Given the description of an element on the screen output the (x, y) to click on. 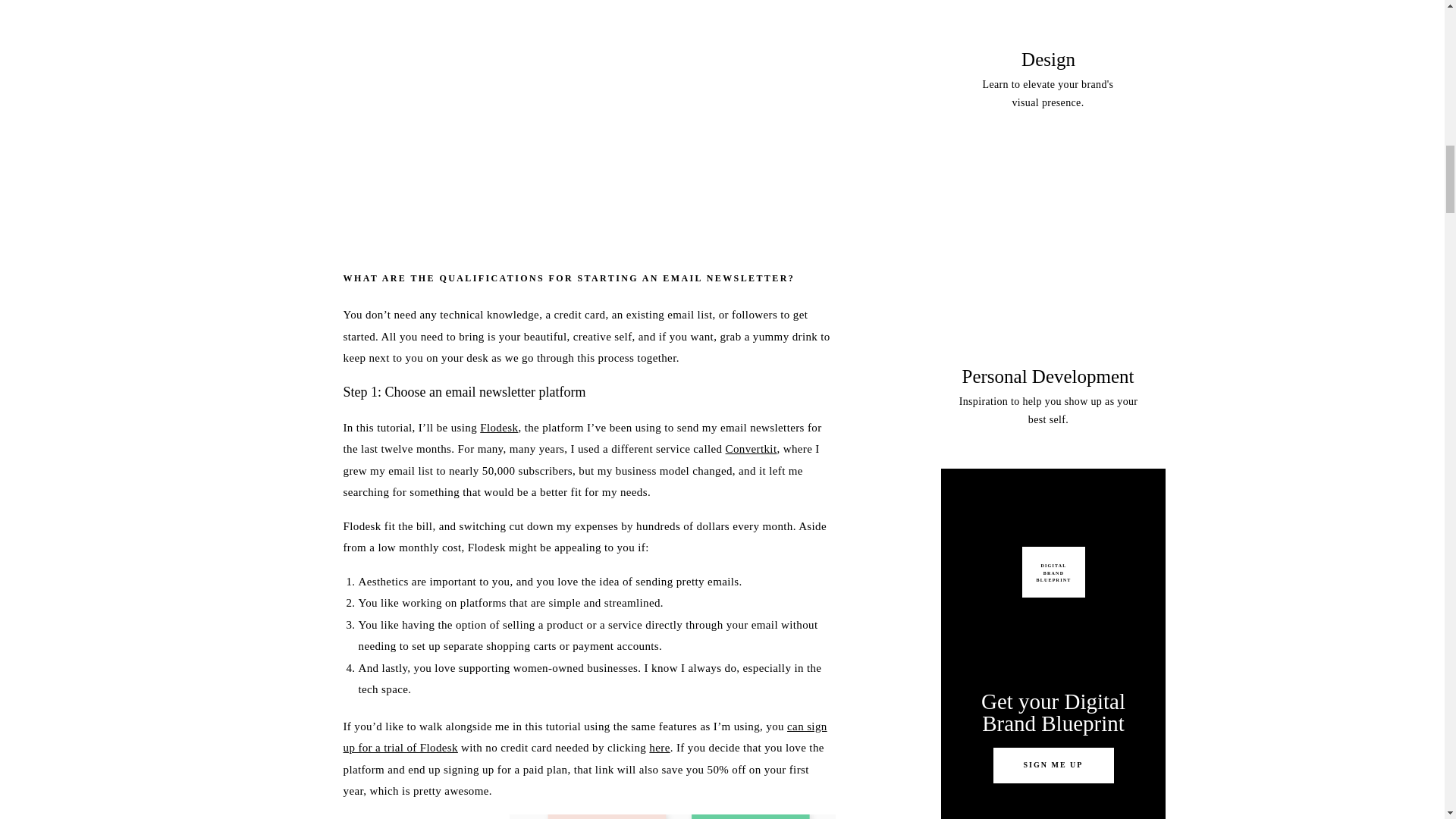
Personal Development (1048, 376)
Learn to elevate your brand's visual presence. (1047, 95)
Design (1048, 59)
Inspiration to help you show up as your best self. (1048, 414)
Flodesk (499, 427)
DIGITAL BRAND BLUEPRINT (1052, 572)
SIGN ME UP (1053, 766)
